Given the description of an element on the screen output the (x, y) to click on. 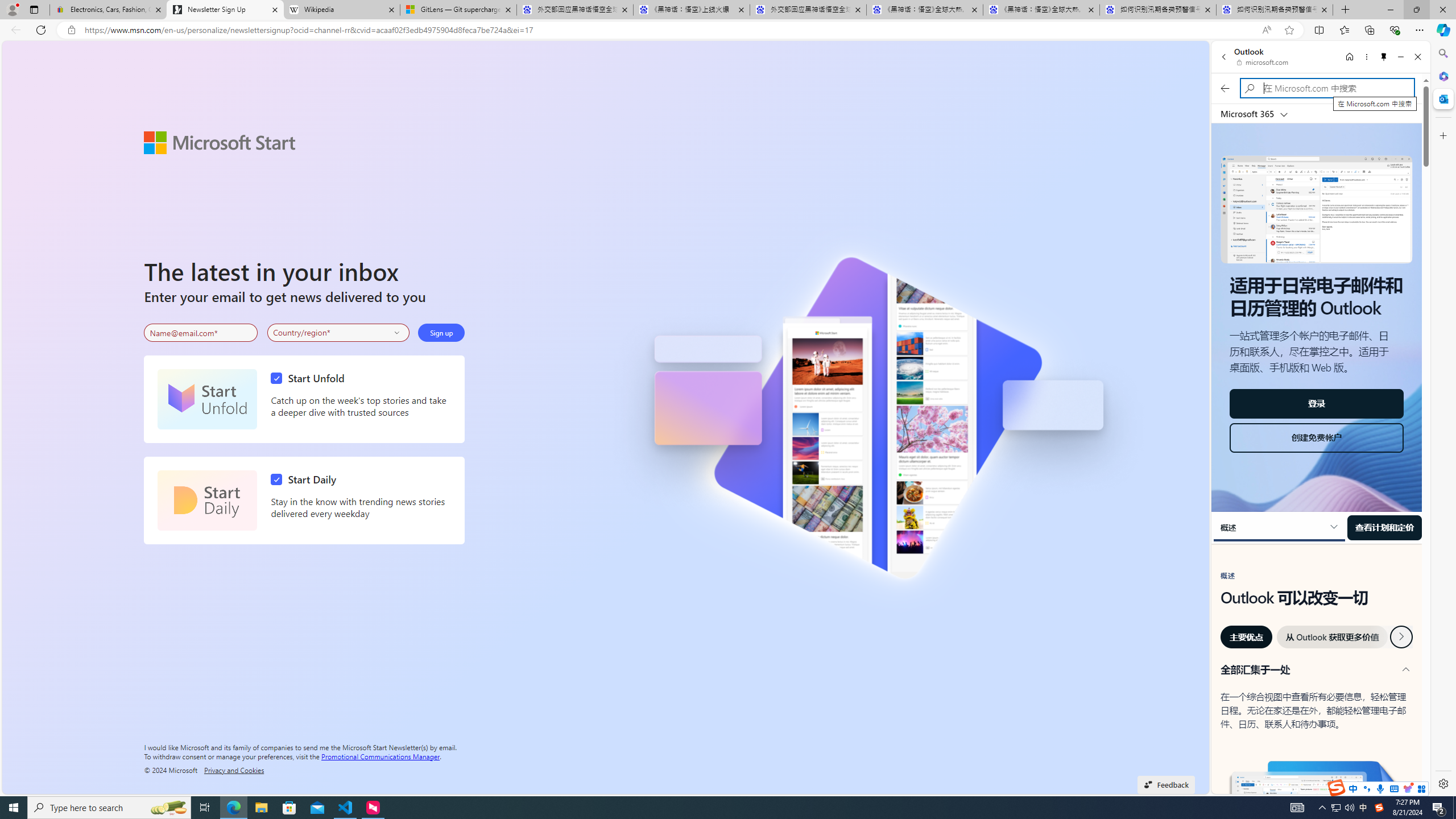
Privacy and Cookies (233, 769)
Start Daily (306, 479)
